Given the description of an element on the screen output the (x, y) to click on. 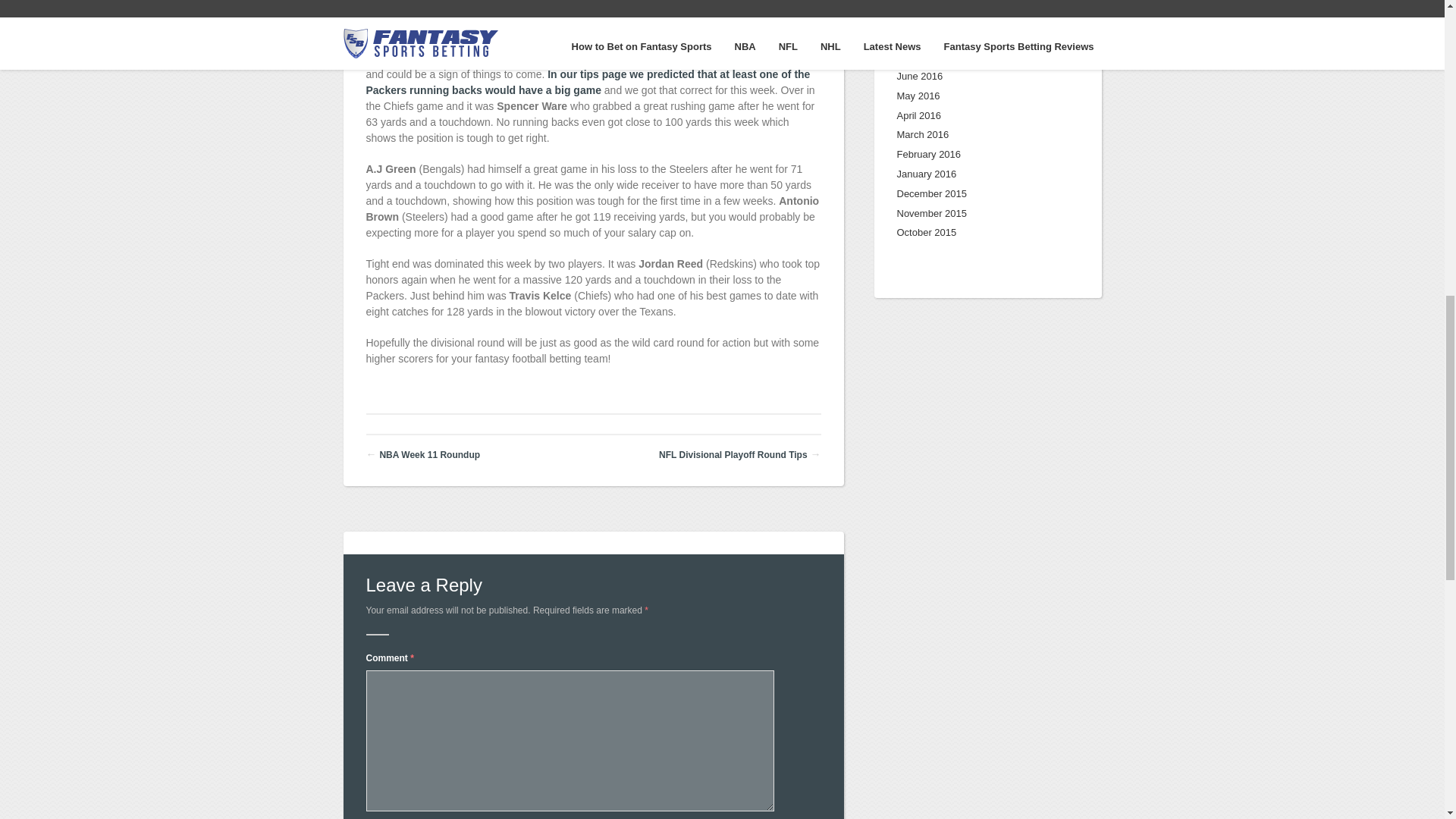
NBA Week 11 Roundup (429, 454)
NFL Divisional Playoff Round Tips (733, 454)
